Given the description of an element on the screen output the (x, y) to click on. 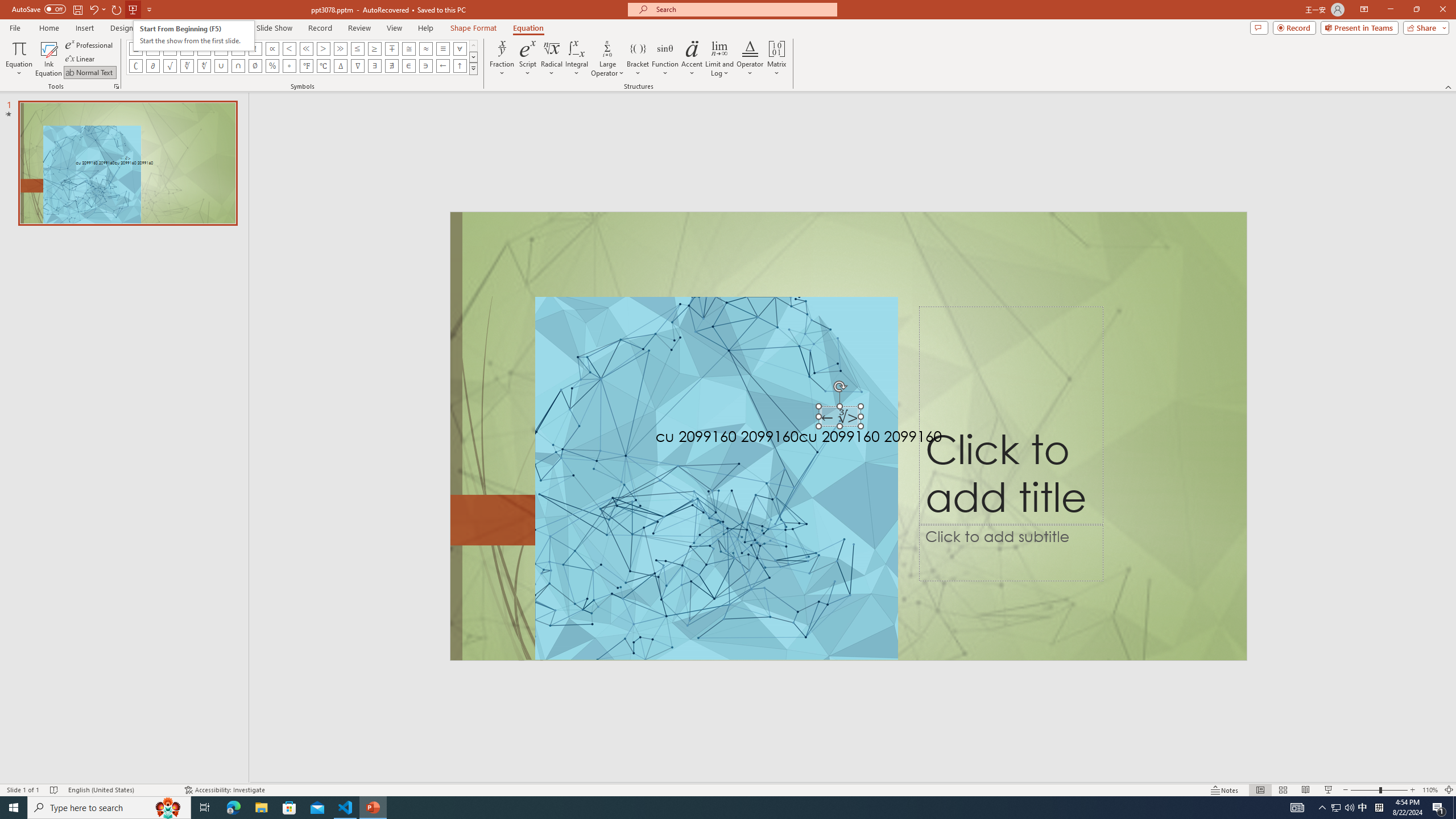
Equation Symbol Fourth Root (203, 65)
Equation Symbol Multiplication Sign (221, 48)
Equation Options... (116, 85)
Radical (552, 58)
Equation Symbol Less Than or Equal To (357, 48)
Script (527, 58)
Equation Symbol Proportional To (272, 48)
Equation Symbol Much Less Than (306, 48)
Accent (691, 58)
Equation Symbol Complement (136, 65)
